Given the description of an element on the screen output the (x, y) to click on. 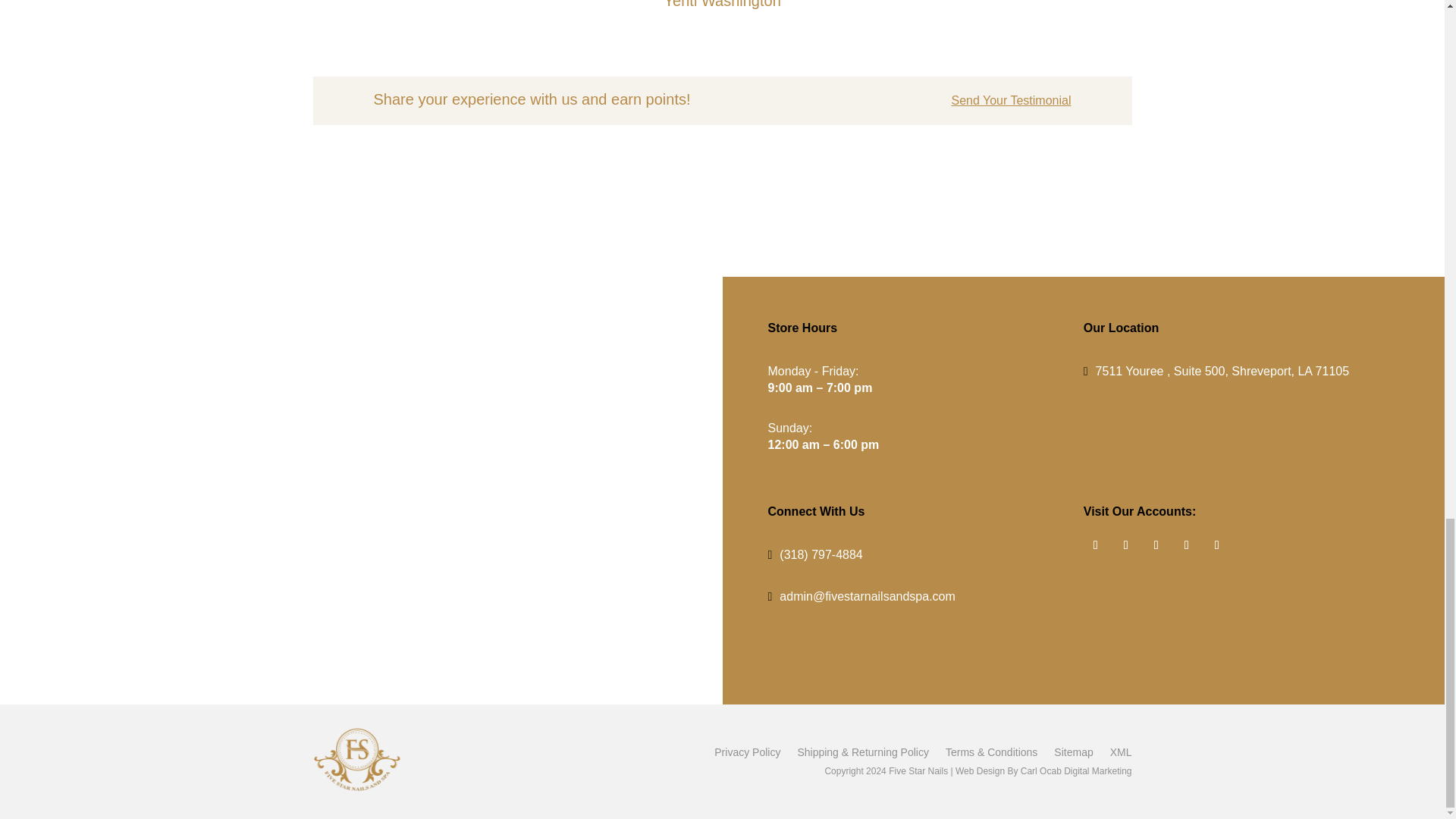
Follow on LinkedIn (1156, 545)
Follow on Facebook (1095, 545)
Follow on Twitter (1125, 545)
cropped-cropped-favicon.png (356, 759)
Follow on Instagram (1216, 545)
Follow on tumblr (1186, 545)
